Given the description of an element on the screen output the (x, y) to click on. 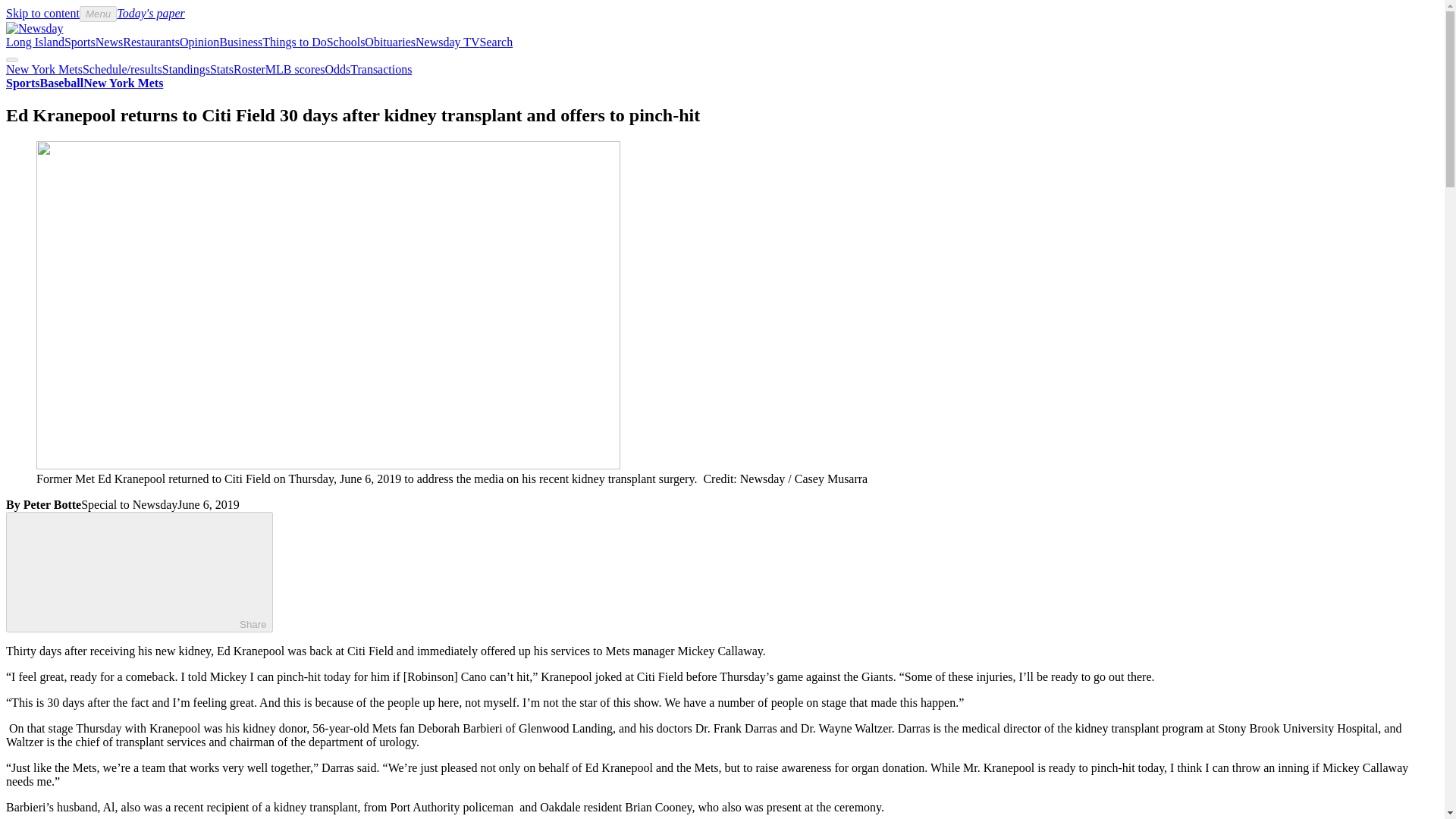
New York Mets (122, 82)
Stats (220, 69)
Newsday TV (447, 42)
New York Mets (43, 69)
Search (496, 42)
Standings (185, 69)
Schools (345, 42)
Menu (98, 13)
Baseball (60, 82)
Things to Do (294, 42)
